Given the description of an element on the screen output the (x, y) to click on. 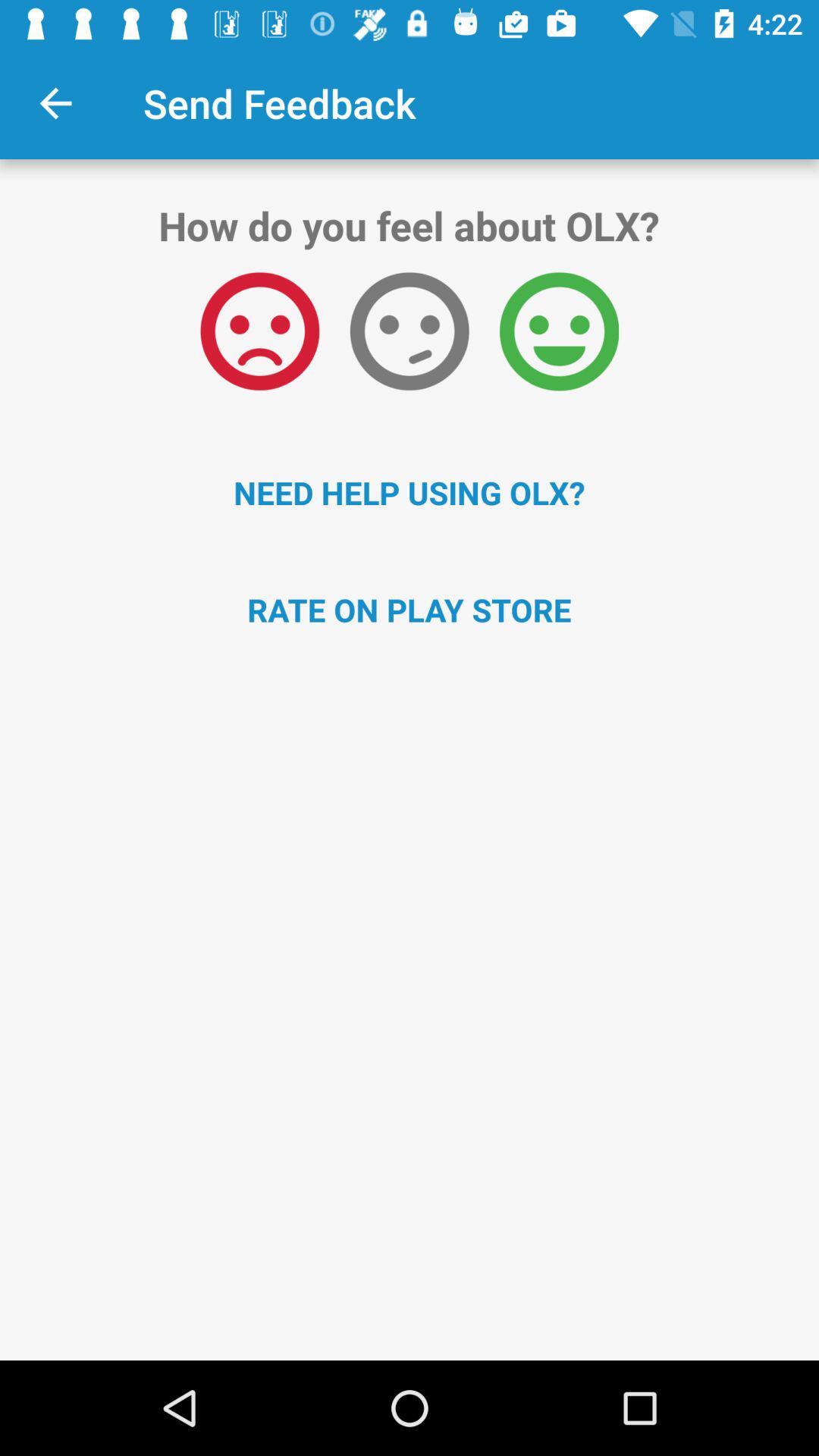
press the icon above rate on play (409, 492)
